Given the description of an element on the screen output the (x, y) to click on. 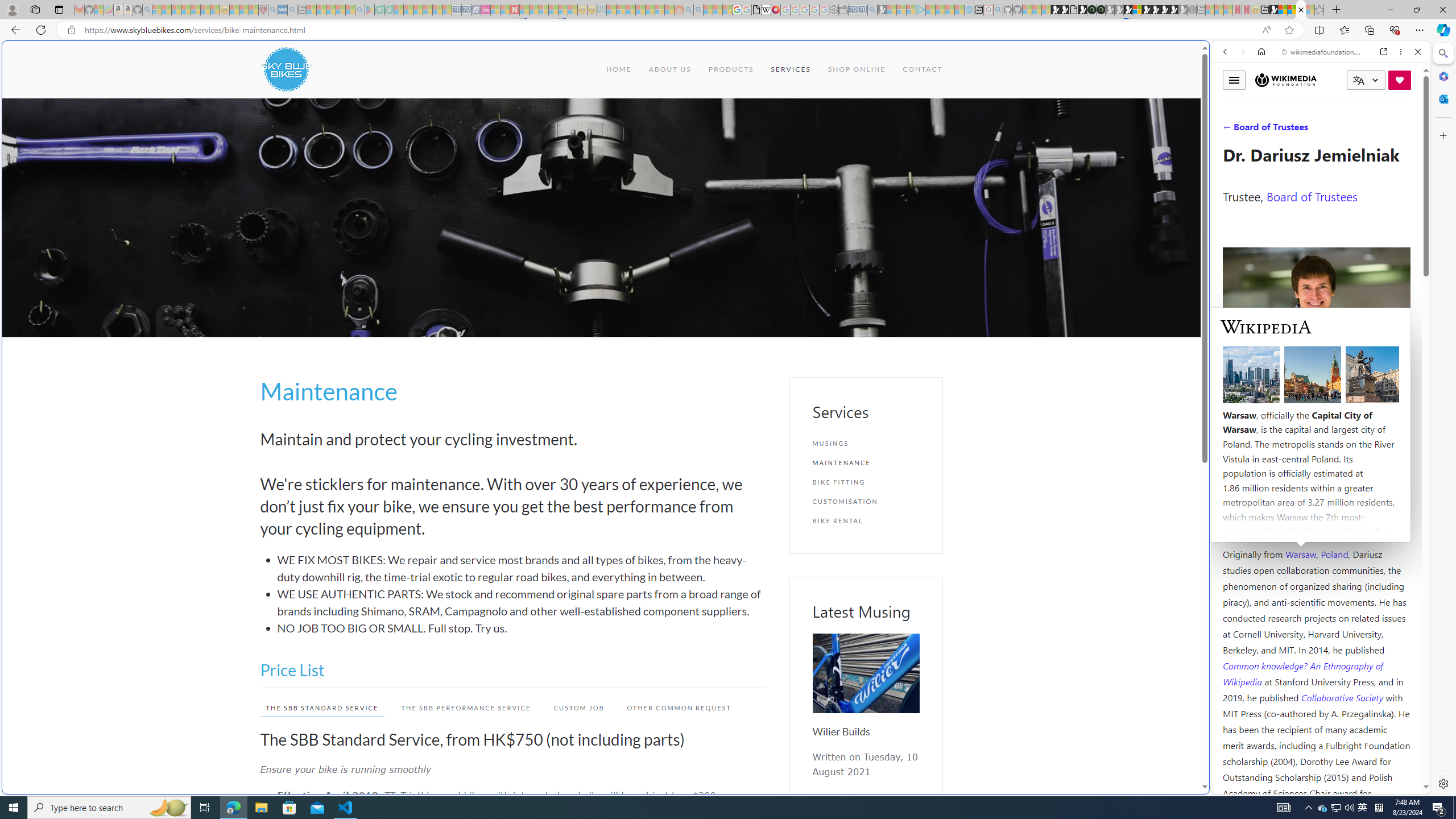
THE SBB PERFORMANCE SERVICE (460, 707)
Bluey: Let's Play! - Apps on Google Play - Sleeping (369, 9)
DITOGAMES AG Imprint - Sleeping (601, 9)
SERVICES (790, 68)
CONTACT (922, 68)
Play Cave FRVR in your browser | Games from Microsoft Start (922, 242)
Wiktionary (1315, 380)
Class: uk-navbar-item uk-logo (285, 68)
Robert H. Shmerling, MD - Harvard Health - Sleeping (263, 9)
Terms of Use Agreement - Sleeping (378, 9)
